Given the description of an element on the screen output the (x, y) to click on. 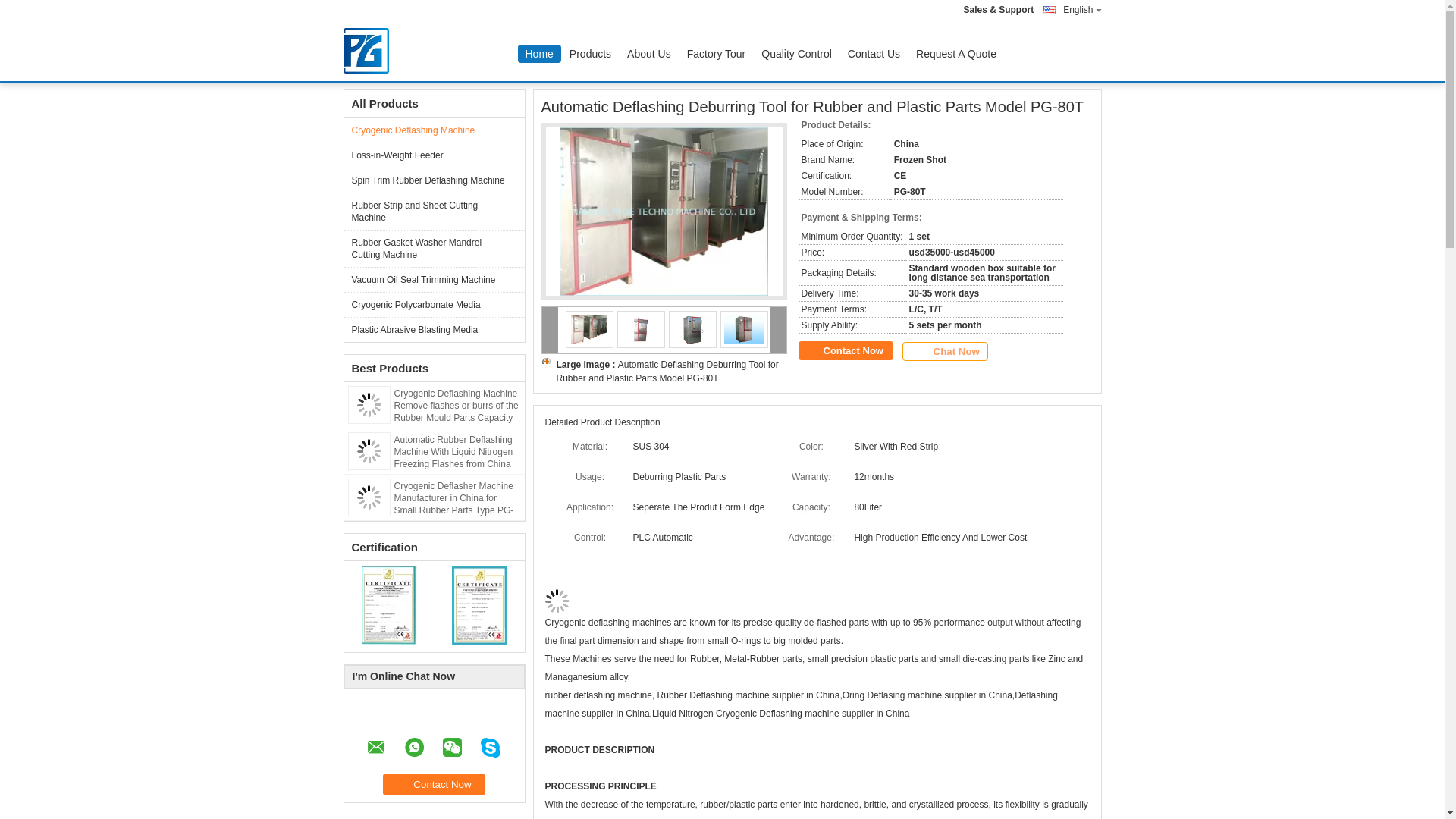
Cryogenic Polycarbonate Media (433, 303)
Request A Quote (956, 54)
Contact Us (873, 54)
Loss-in-Weight Feeder (433, 154)
Quality Control (797, 54)
Rubber Gasket Washer Mandrel Cutting Machine (433, 248)
China Cryogenic Polycarbonate Media  on sales (433, 303)
